Given the description of an element on the screen output the (x, y) to click on. 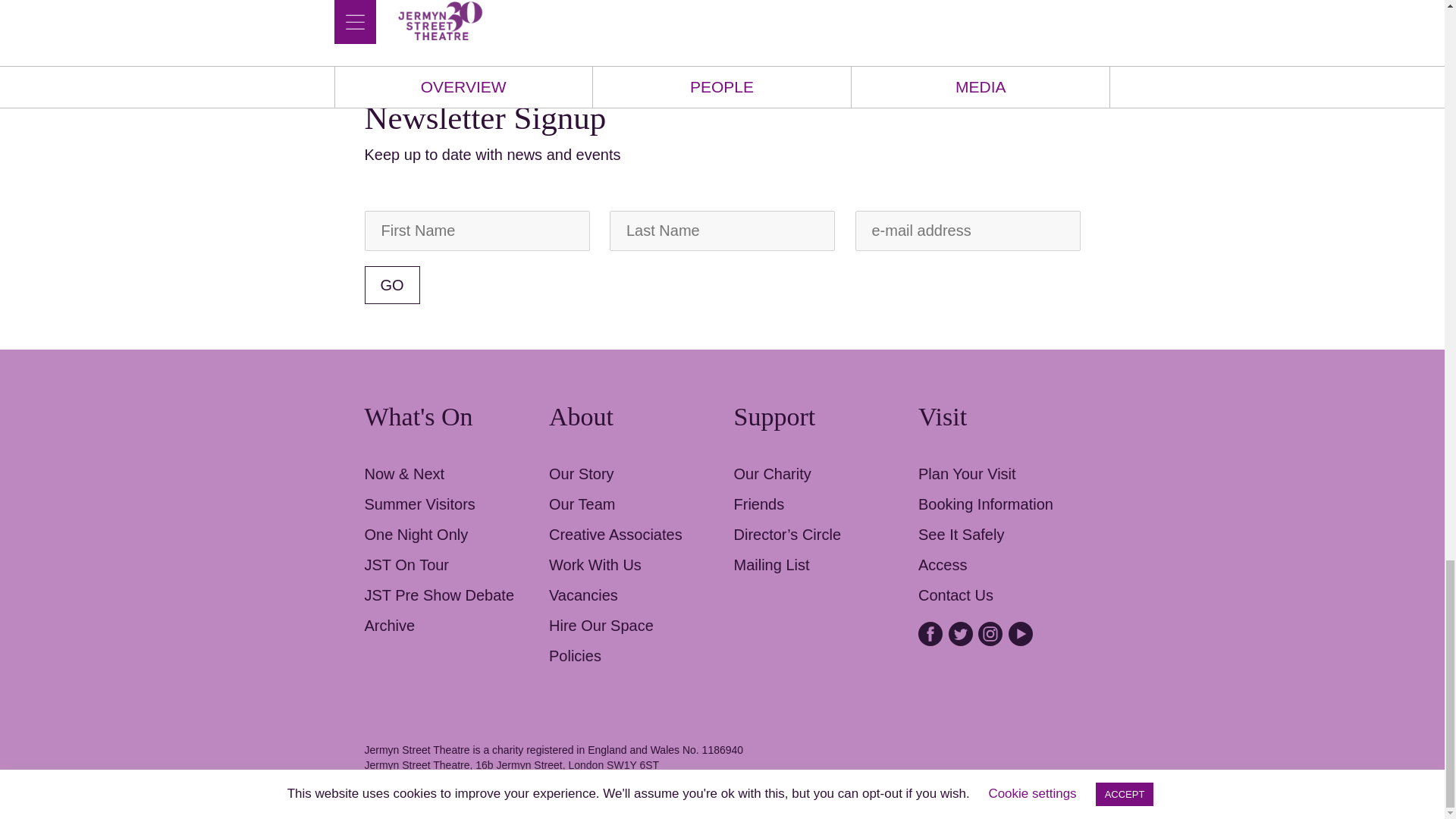
Instagram (990, 633)
YouTube (1020, 633)
GO (391, 285)
One Night Only (415, 534)
Summer Visitors (419, 504)
Archive (389, 625)
JST Pre Show Debate (438, 595)
JST On Tour (406, 564)
Facebook (930, 633)
GO (391, 285)
twitter (960, 633)
